Given the description of an element on the screen output the (x, y) to click on. 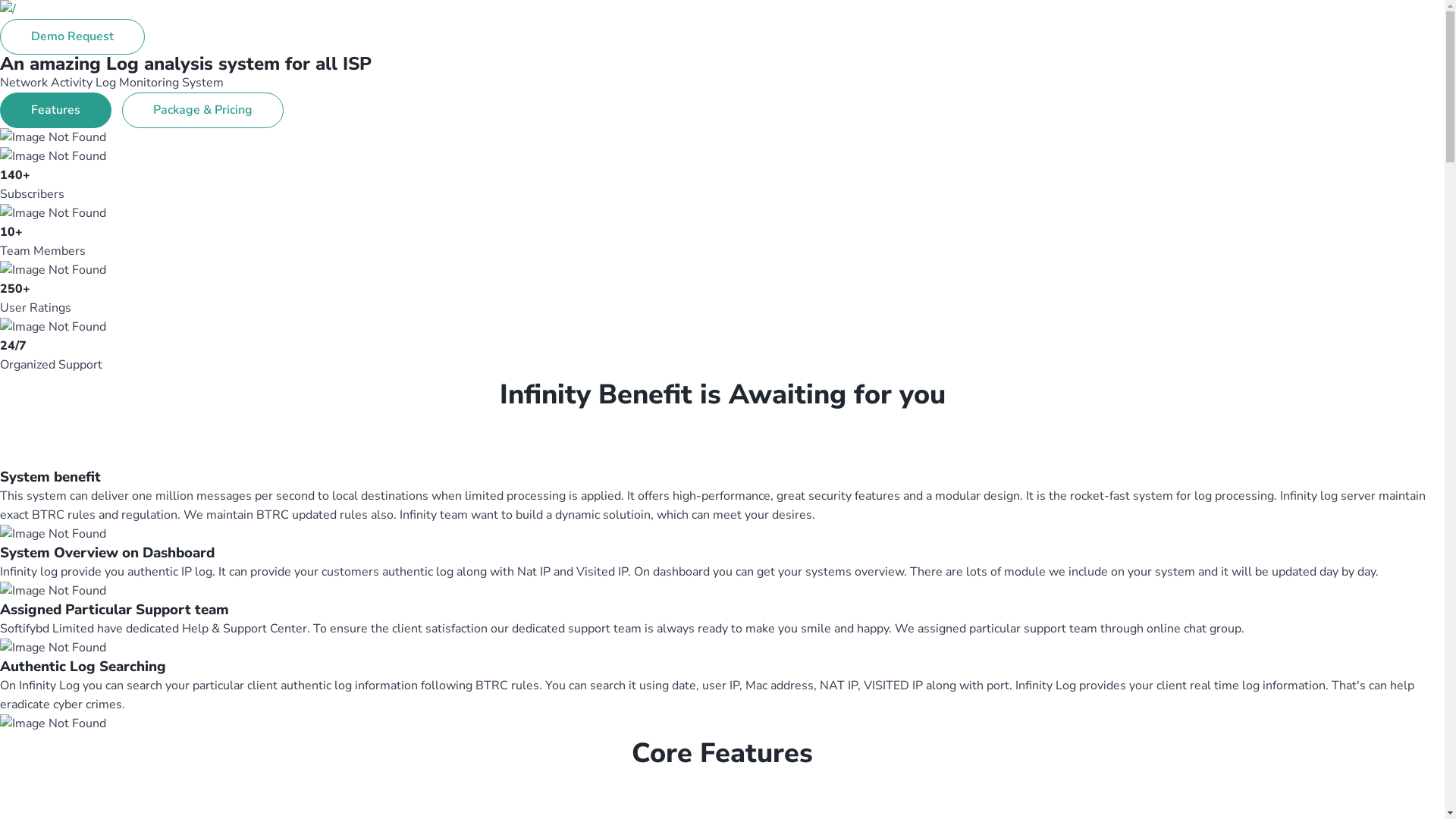
Features Element type: text (55, 110)
Package & Pricing Element type: text (202, 110)
Demo Request Element type: text (72, 36)
